Given the description of an element on the screen output the (x, y) to click on. 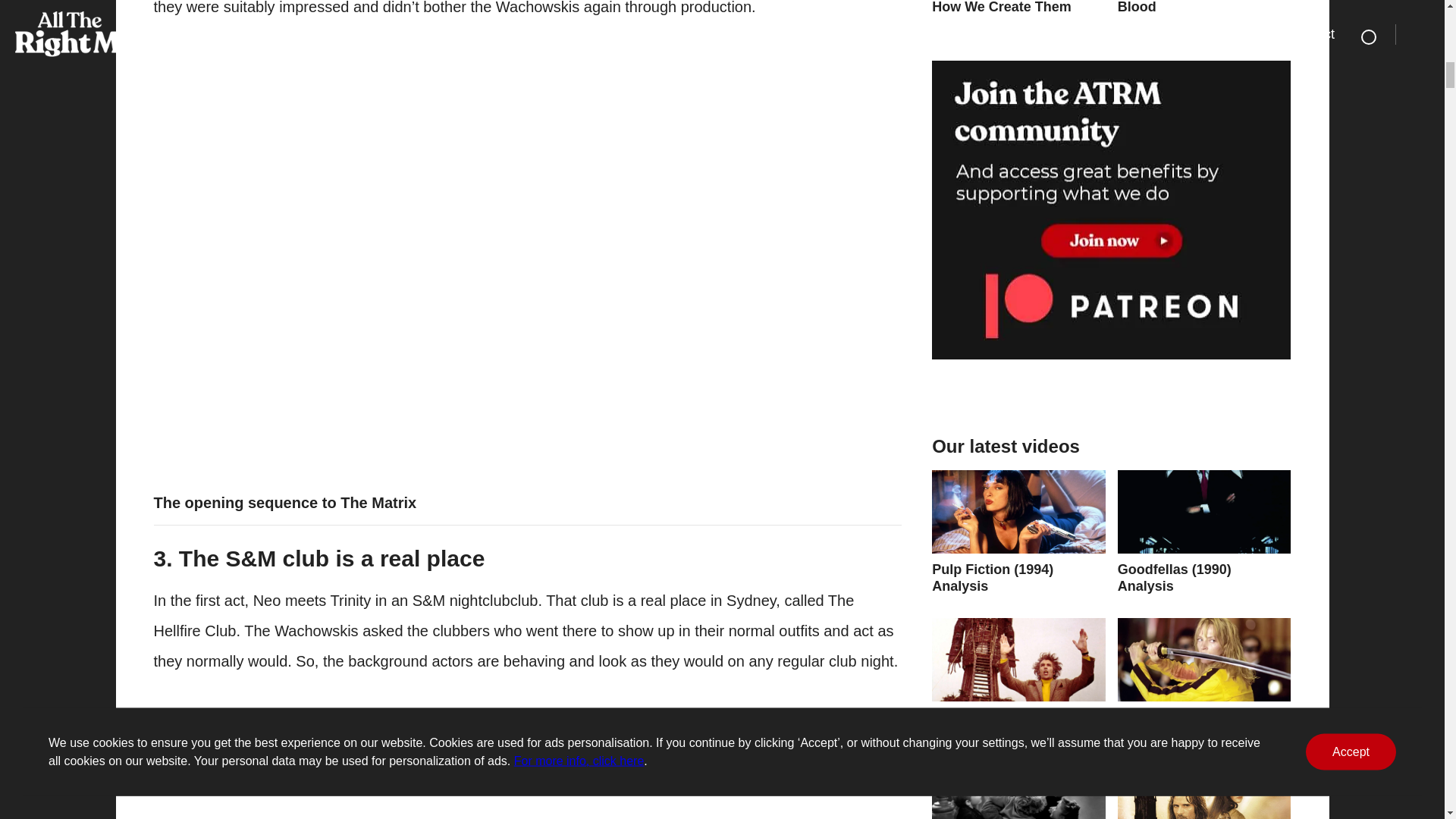
30 Interesting Facts About There Will Be Blood (1204, 7)
Top 10 Movie Fight Scenes Of All Time (1204, 679)
Top 10 Movie Plot Twists Of All Time (1018, 679)
ATRM Social Media Threads and Podcasts: How We Create Them (1018, 7)
The Matrix -  Opening Scene (395, 188)
The Matrix Club Scene (395, 762)
